Given the description of an element on the screen output the (x, y) to click on. 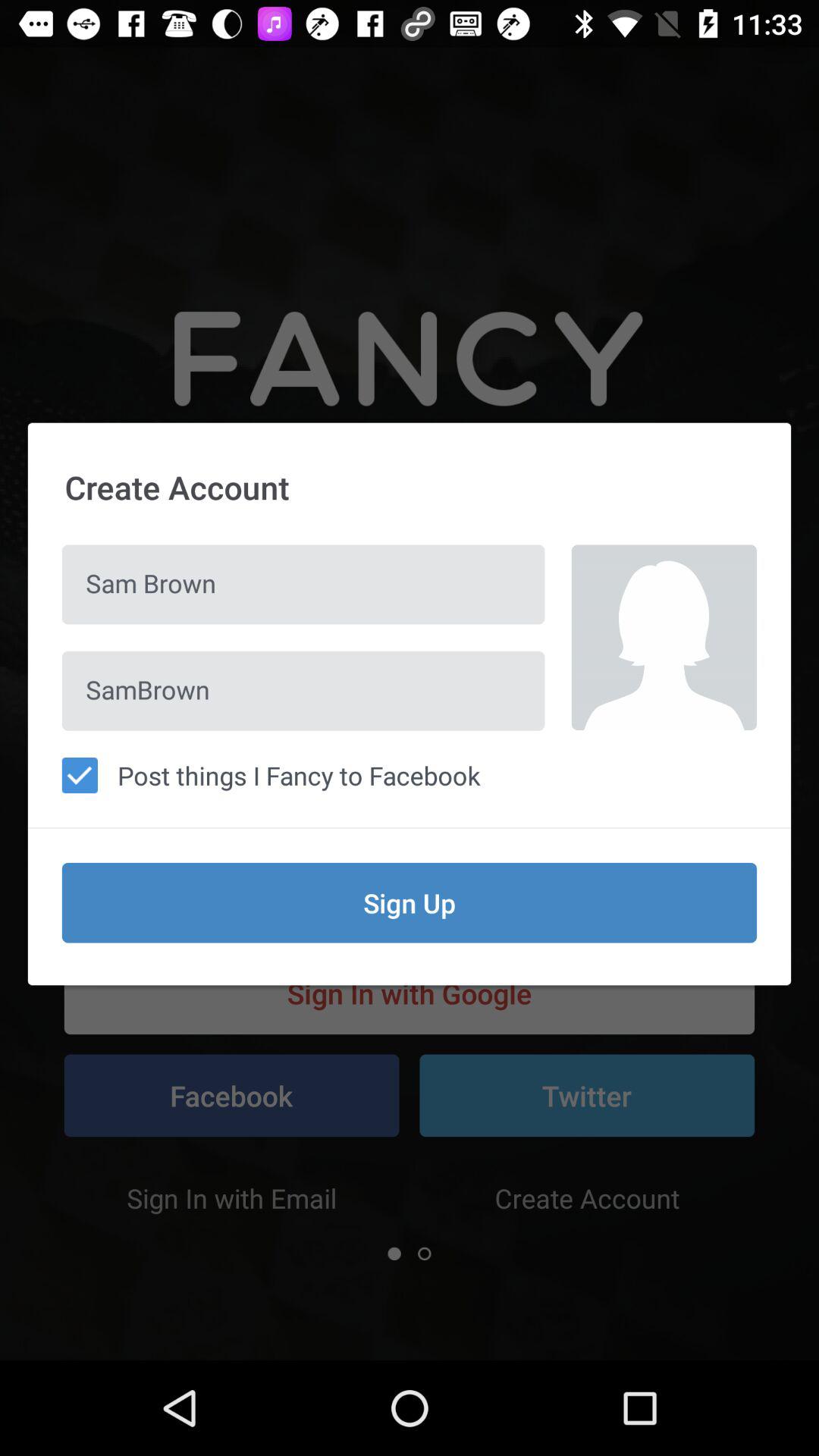
launch the icon to the right of the sam brown (664, 637)
